Given the description of an element on the screen output the (x, y) to click on. 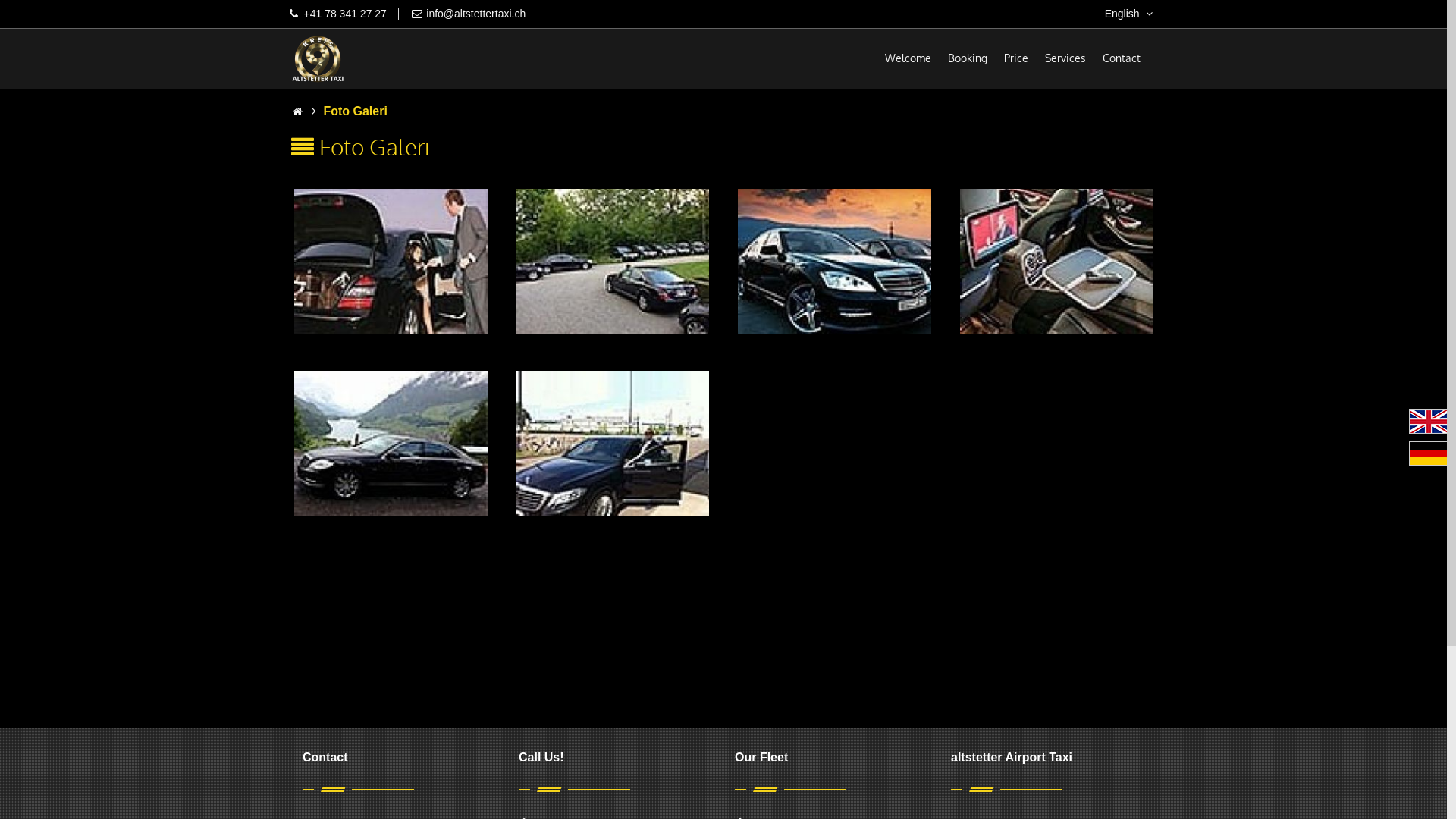
Welcome Element type: text (907, 57)
Altstetter Taxi Element type: hover (317, 58)
Services Element type: text (1065, 57)
English Element type: hover (1427, 421)
+41 78 341 27 27 Element type: text (344, 13)
Contact Element type: text (1121, 57)
Deutsch Element type: hover (1427, 453)
Booking Element type: text (967, 57)
Altstetter Taxi Element type: hover (317, 58)
English Element type: text (1129, 13)
info@altstettertaxi.ch Element type: text (475, 13)
Price Element type: text (1015, 57)
